Given the description of an element on the screen output the (x, y) to click on. 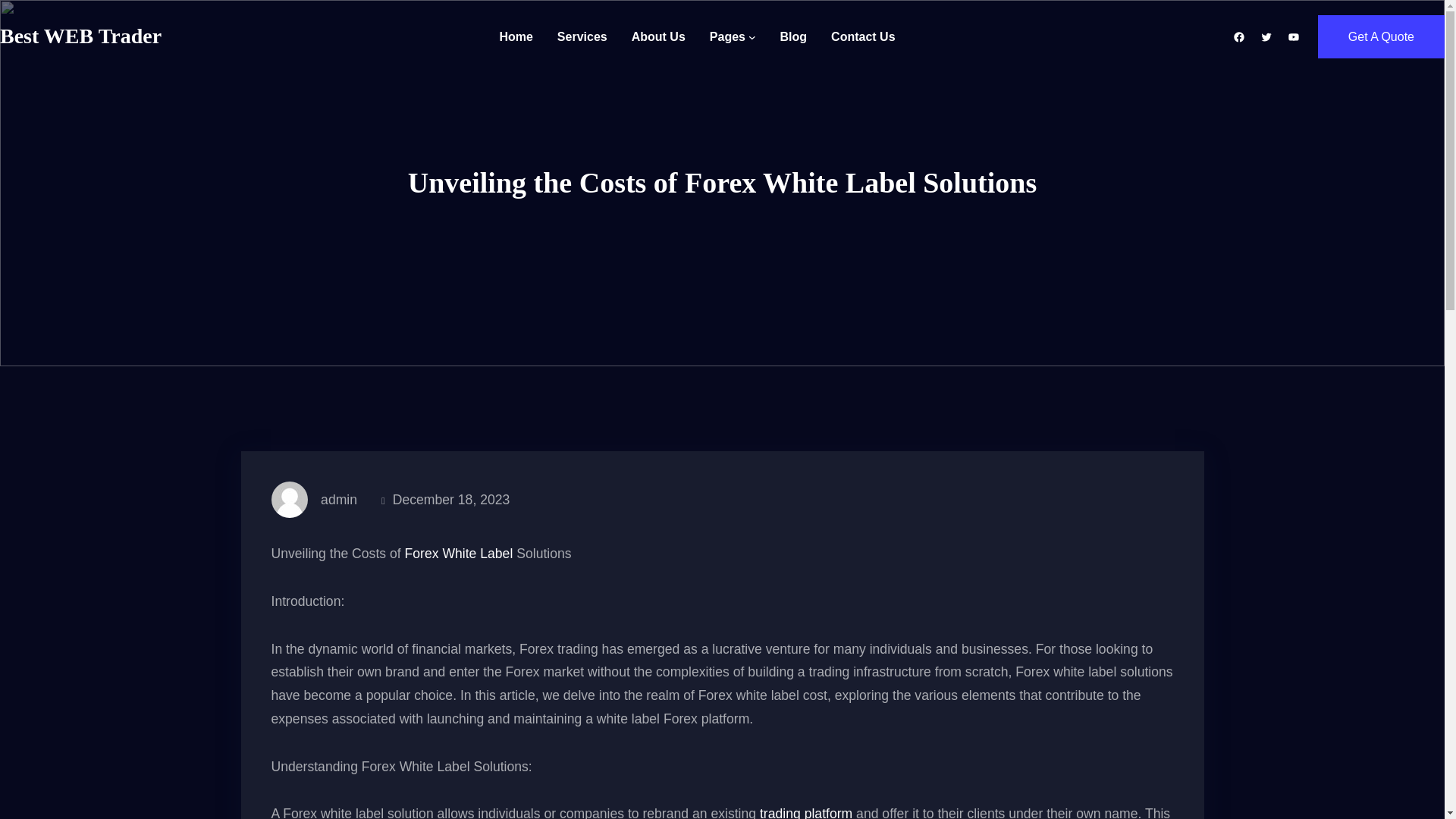
Twitter (1266, 37)
Forex (421, 553)
Pages (727, 36)
Services (582, 36)
White Label (477, 553)
trading platform (805, 812)
Facebook (1238, 37)
Contact Us (863, 36)
About Us (658, 36)
trading platform (805, 812)
